Given the description of an element on the screen output the (x, y) to click on. 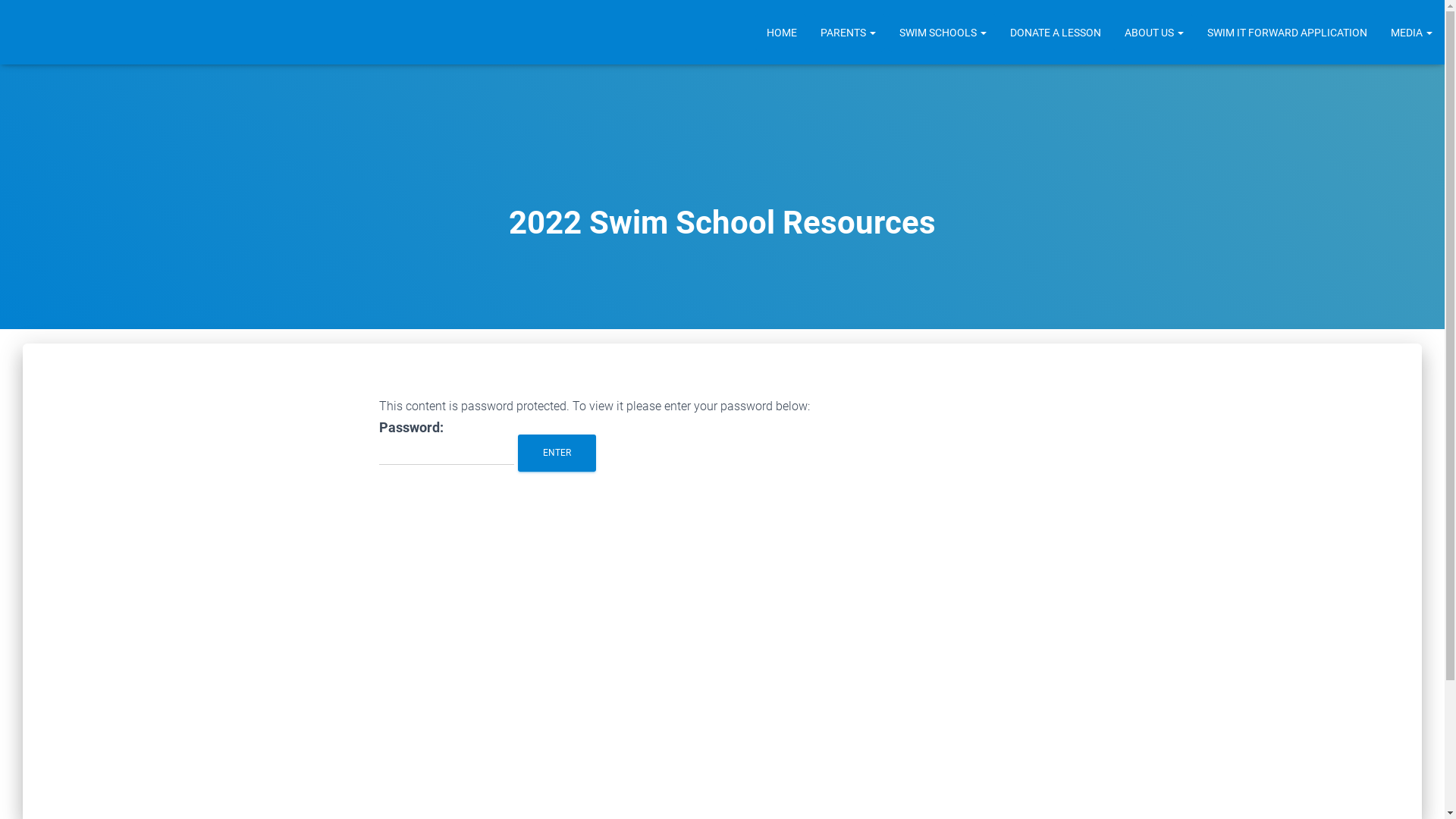
HOME Element type: text (780, 32)
SWIM SCHOOLS Element type: text (941, 32)
ABOUT US Element type: text (1152, 32)
MEDIA Element type: text (1410, 32)
Enter Element type: text (556, 452)
PARENTS Element type: text (846, 32)
SWIM IT FORWARD APPLICATION Element type: text (1285, 32)
DONATE A LESSON Element type: text (1054, 32)
